Given the description of an element on the screen output the (x, y) to click on. 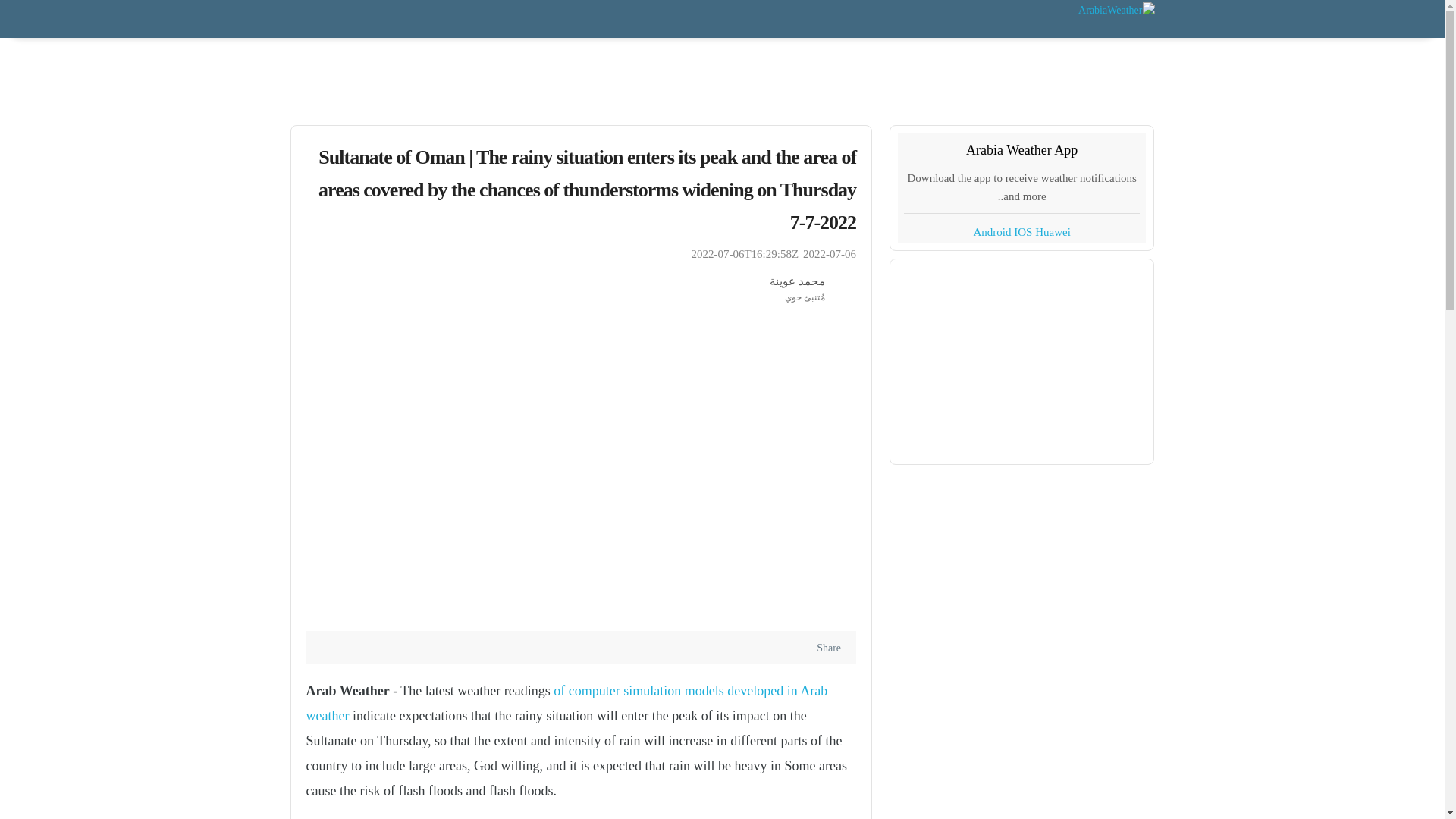
ArabiaWeather (1116, 7)
